Given the description of an element on the screen output the (x, y) to click on. 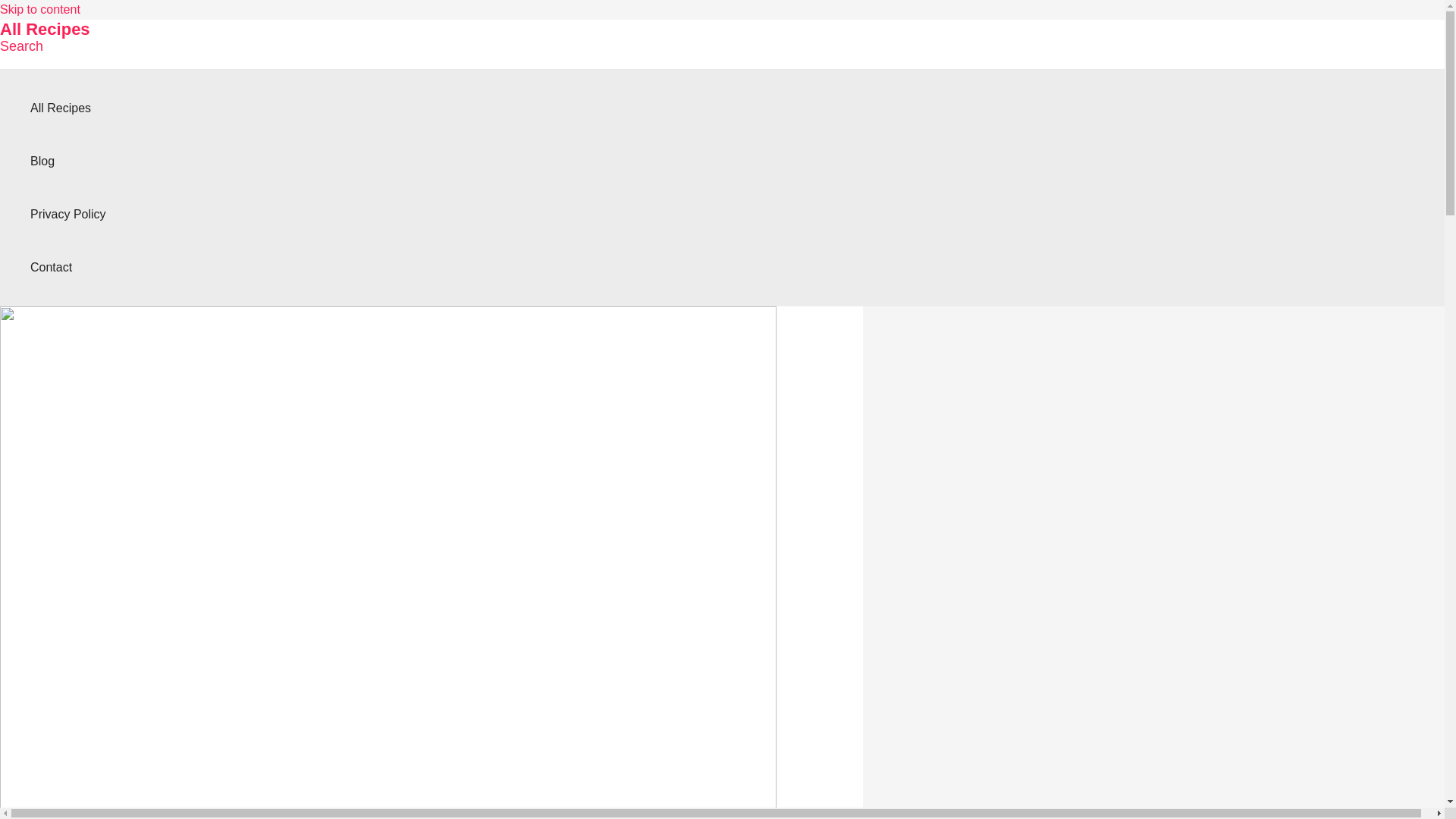
Skip to content (40, 9)
Privacy Policy (68, 214)
All Recipes (45, 28)
Skip to content (40, 9)
All Recipes (68, 108)
Blog (68, 161)
Contact (68, 267)
Search (21, 46)
